Given the description of an element on the screen output the (x, y) to click on. 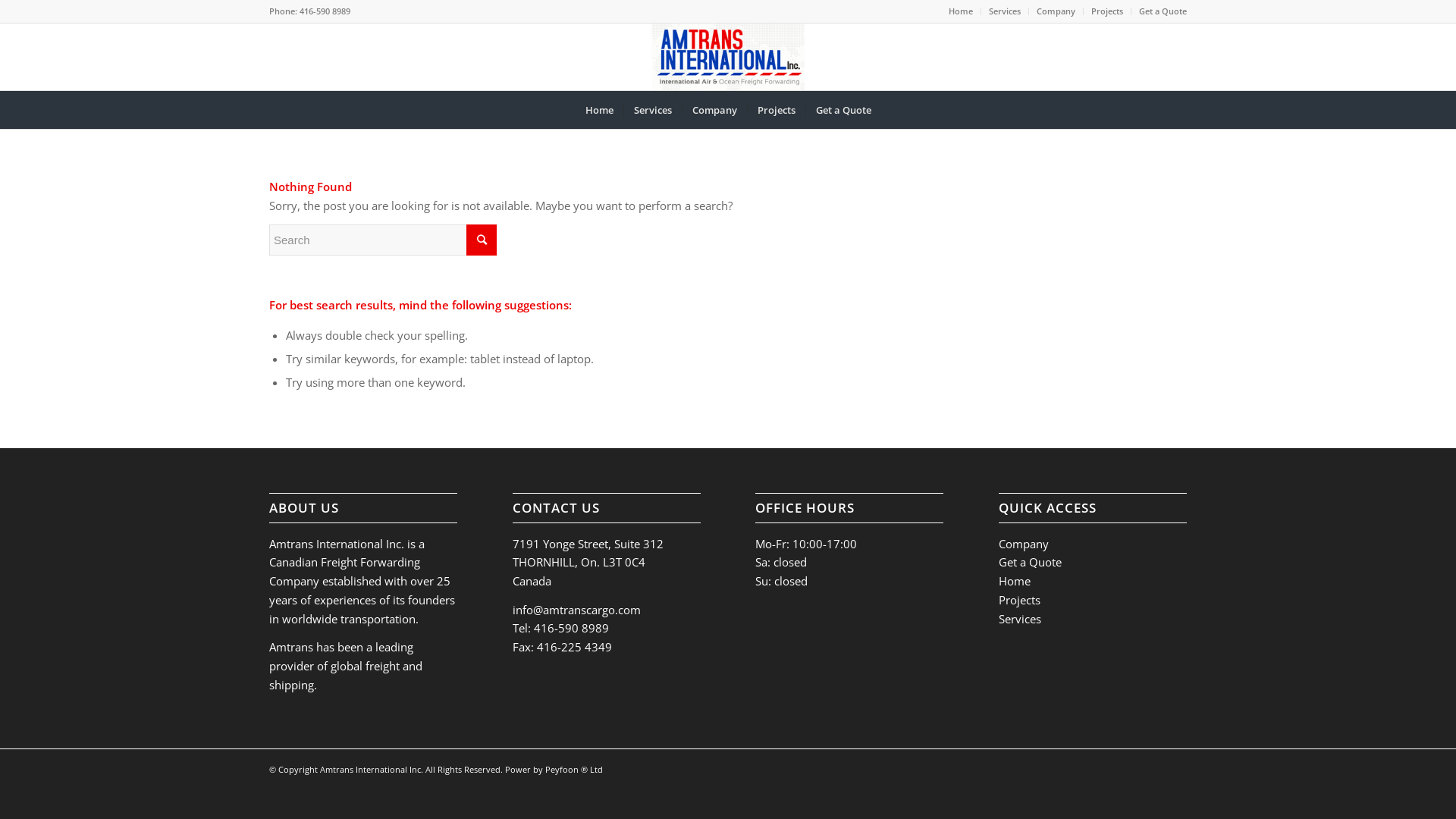
Projects Element type: text (775, 109)
Get a Quote Element type: text (843, 109)
Home Element type: text (1014, 580)
Services Element type: text (1004, 10)
Company Element type: text (713, 109)
Projects Element type: text (1107, 10)
Get a Quote Element type: text (1029, 561)
Services Element type: text (652, 109)
Home Element type: text (598, 109)
Services Element type: text (1019, 618)
Company Element type: text (1023, 543)
Projects Element type: text (1019, 599)
Company Element type: text (1055, 10)
Get a Quote Element type: text (1162, 10)
Home Element type: text (960, 10)
